Given the description of an element on the screen output the (x, y) to click on. 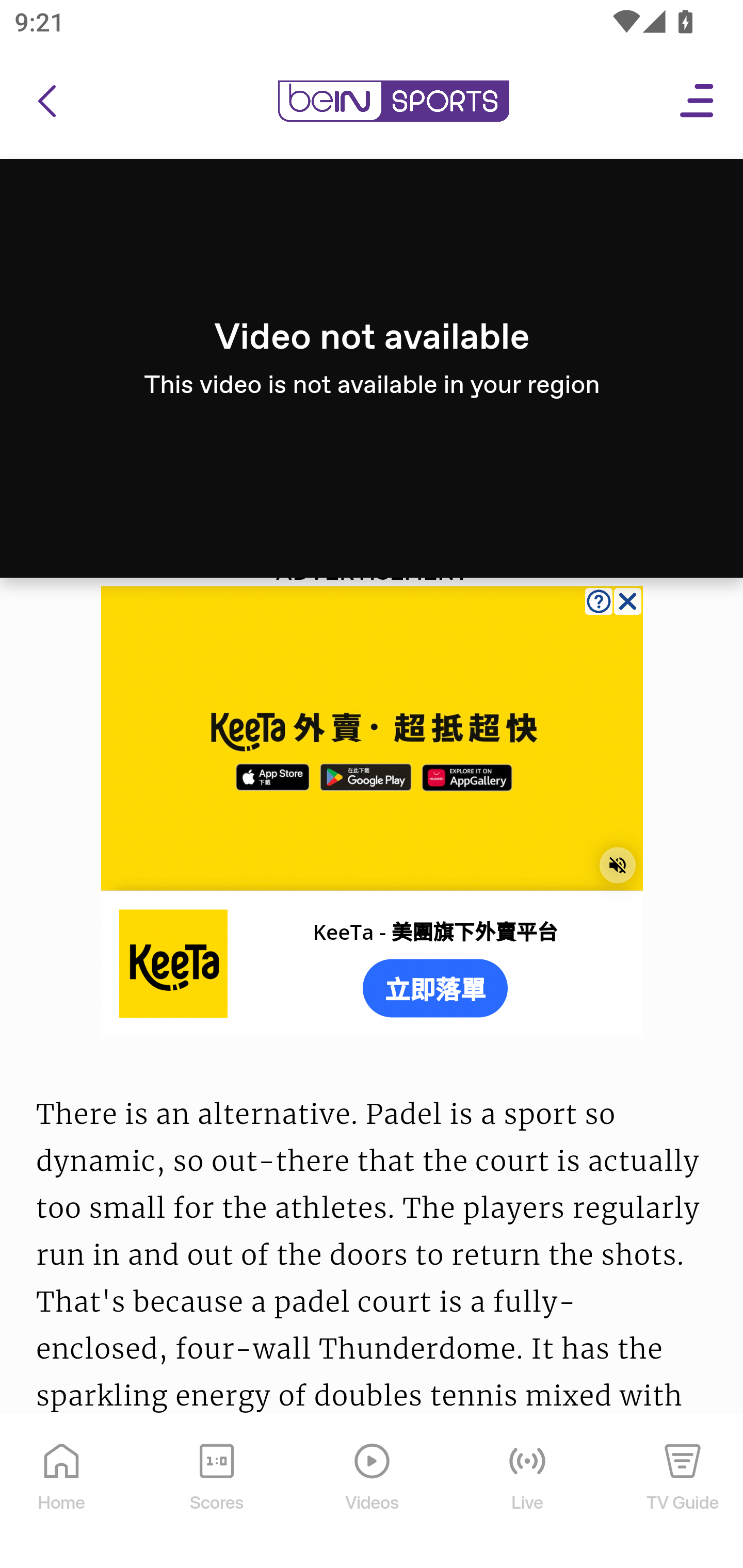
en-us?platform=mobile_android bein logo (392, 101)
icon back (46, 101)
Open Menu Icon (697, 101)
Home Home Icon Home (61, 1491)
Scores Scores Icon Scores (216, 1491)
Videos Videos Icon Videos (372, 1491)
TV Guide TV Guide Icon TV Guide (682, 1491)
